Given the description of an element on the screen output the (x, y) to click on. 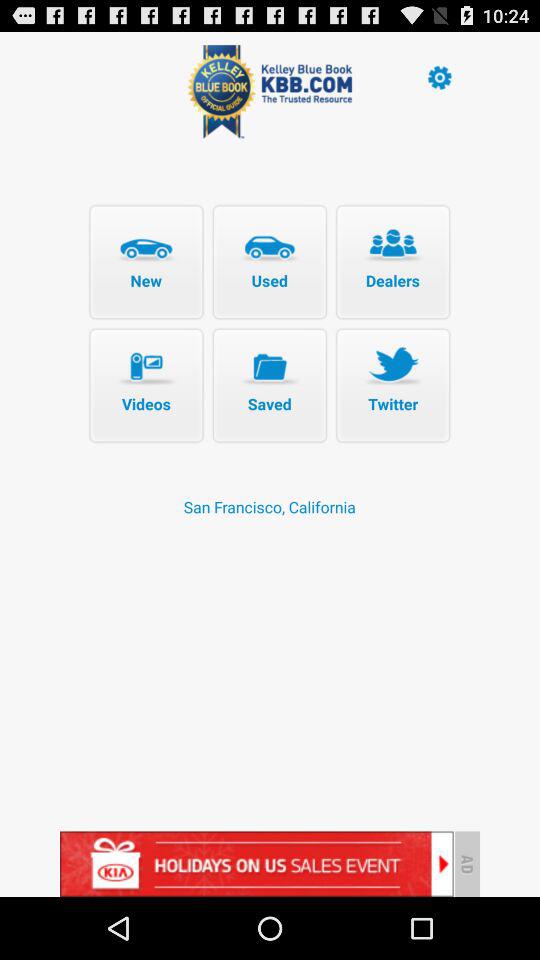
advertisement (256, 864)
